Given the description of an element on the screen output the (x, y) to click on. 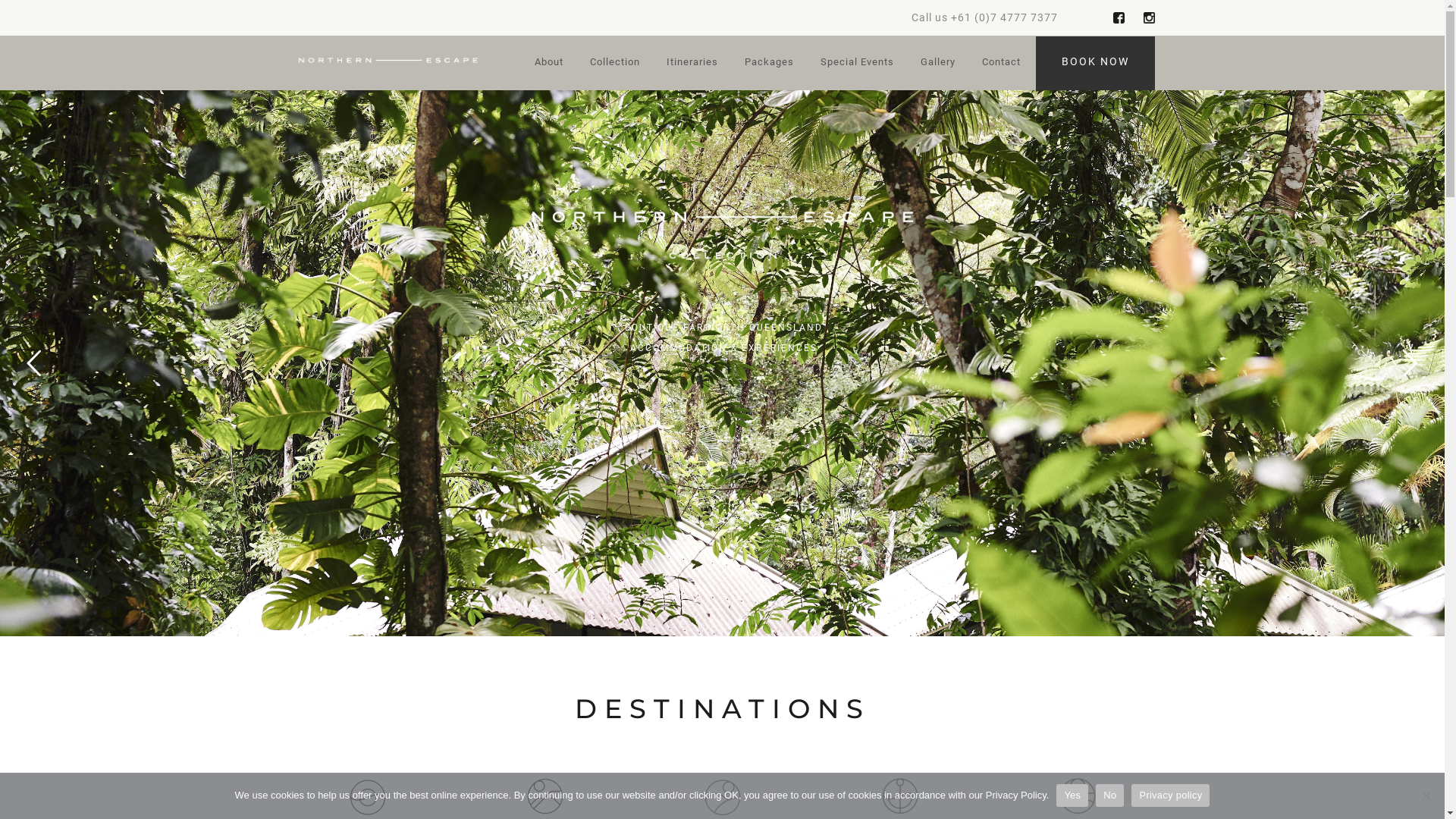
No Element type: hover (1425, 795)
Instagram Element type: text (1148, 17)
BOOK NOW Element type: text (1095, 63)
Yes Element type: text (1072, 795)
Facebook Element type: text (1118, 17)
Special Events Element type: text (857, 63)
Collection Element type: text (614, 63)
Privacy policy Element type: text (1170, 795)
Packages Element type: text (768, 63)
Gallery Element type: text (937, 63)
+61 (0)7 4777 7377 Element type: text (1003, 17)
No Element type: text (1109, 795)
About Element type: text (547, 63)
Contact Element type: text (1000, 63)
Itineraries Element type: text (691, 63)
